Given the description of an element on the screen output the (x, y) to click on. 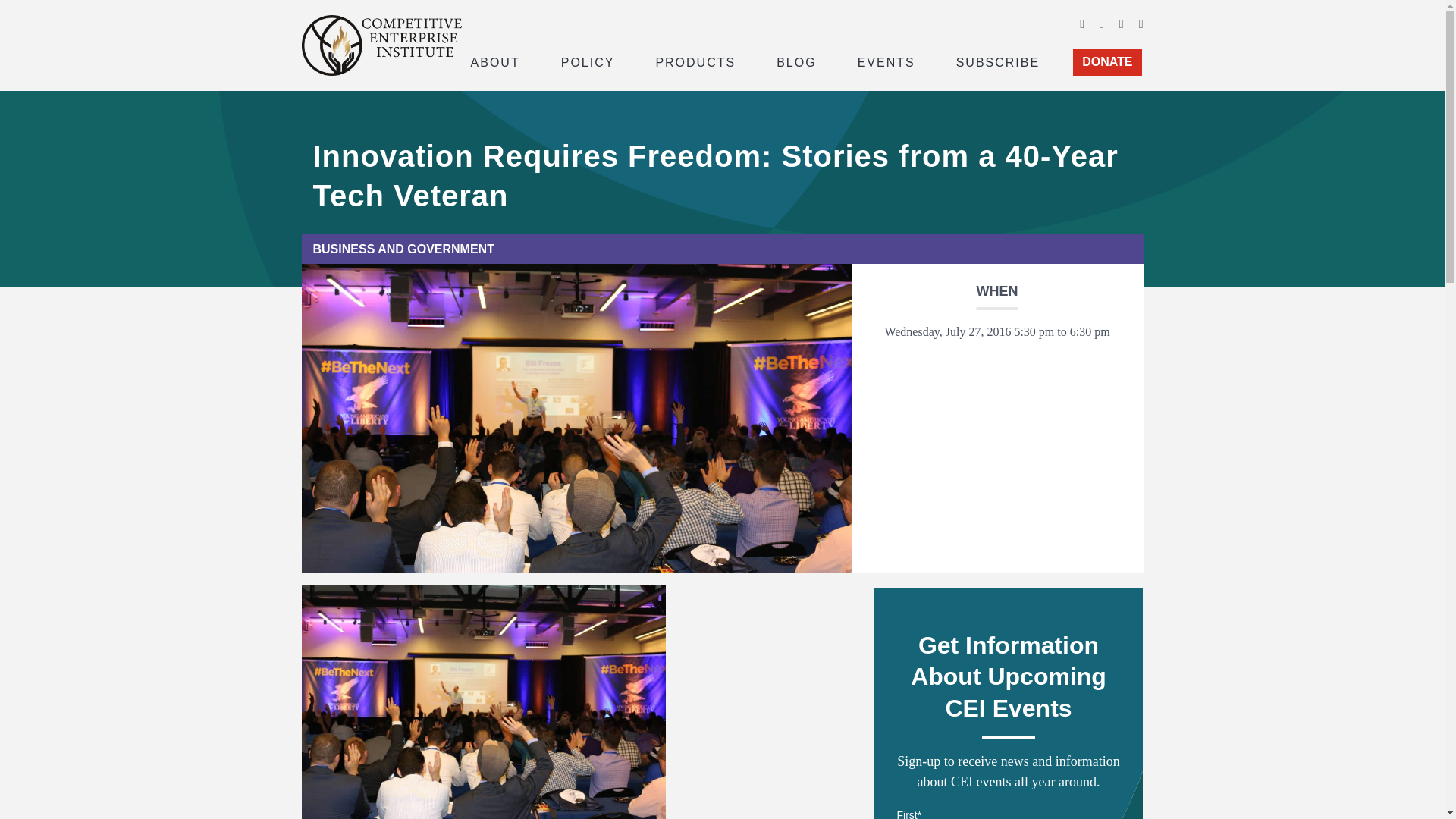
ABOUT (495, 61)
EVENTS (886, 61)
DONATE (1107, 62)
BLOG (796, 61)
PRODUCTS (694, 61)
SUBSCRIBE (997, 61)
POLICY (588, 61)
